Given the description of an element on the screen output the (x, y) to click on. 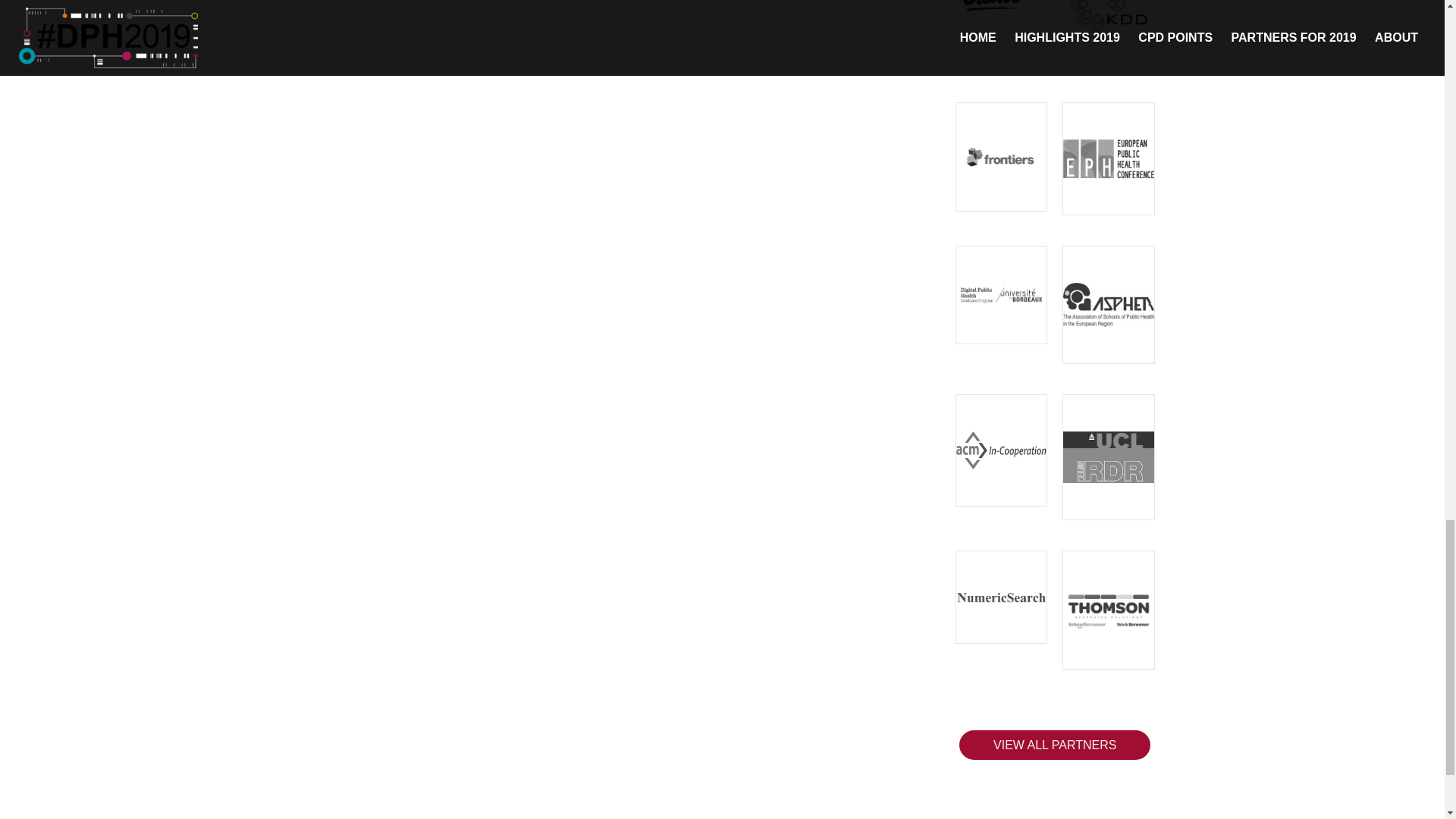
View all Partners (1054, 745)
VIEW ALL PARTNERS (1054, 745)
NumericSearch (1000, 597)
GIANT Health (1000, 25)
